Given the description of an element on the screen output the (x, y) to click on. 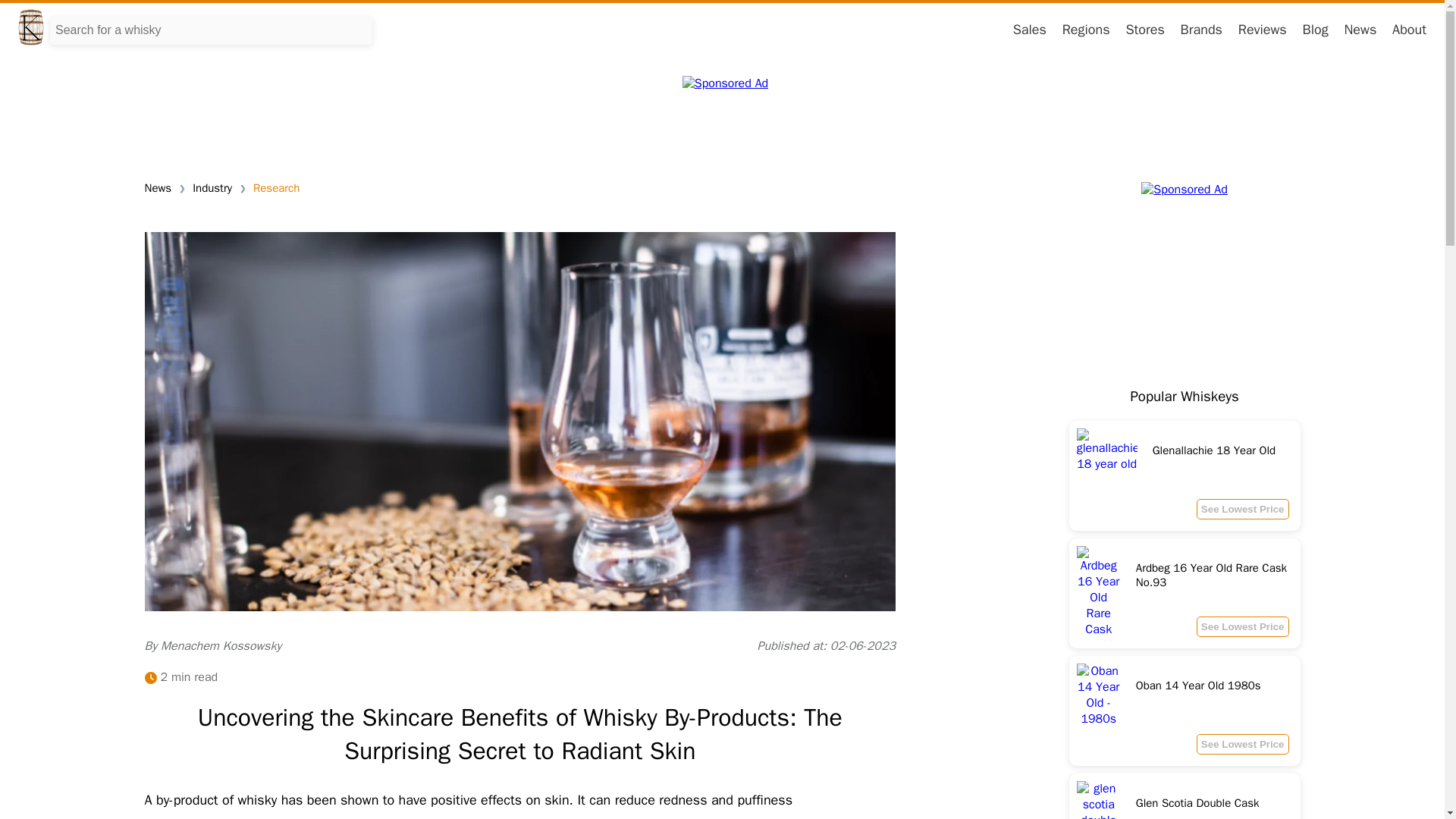
See Lowest Price (1242, 626)
Reviews (1184, 593)
Sales (1263, 29)
Research (1184, 710)
See Lowest Price (1029, 29)
About (276, 187)
Regions (1242, 508)
Brands (1408, 29)
